Given the description of an element on the screen output the (x, y) to click on. 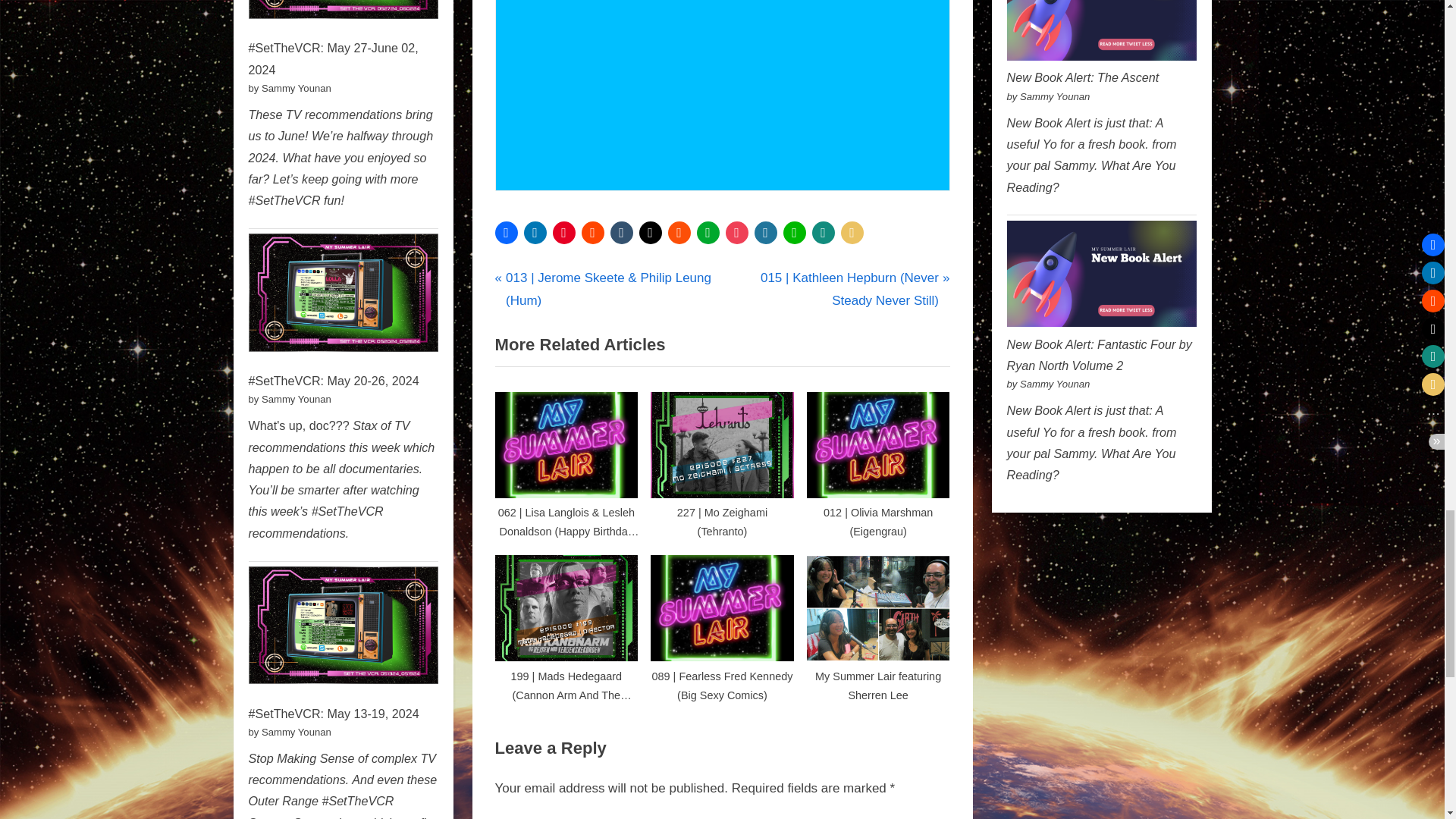
Sherren Lee (635, 273)
Movies (581, 273)
My Summer Lair (553, 273)
Podcast (619, 273)
TIFF 2015 (835, 273)
TIFF - Toronto Film Festival (738, 273)
Directors (535, 273)
